Given the description of an element on the screen output the (x, y) to click on. 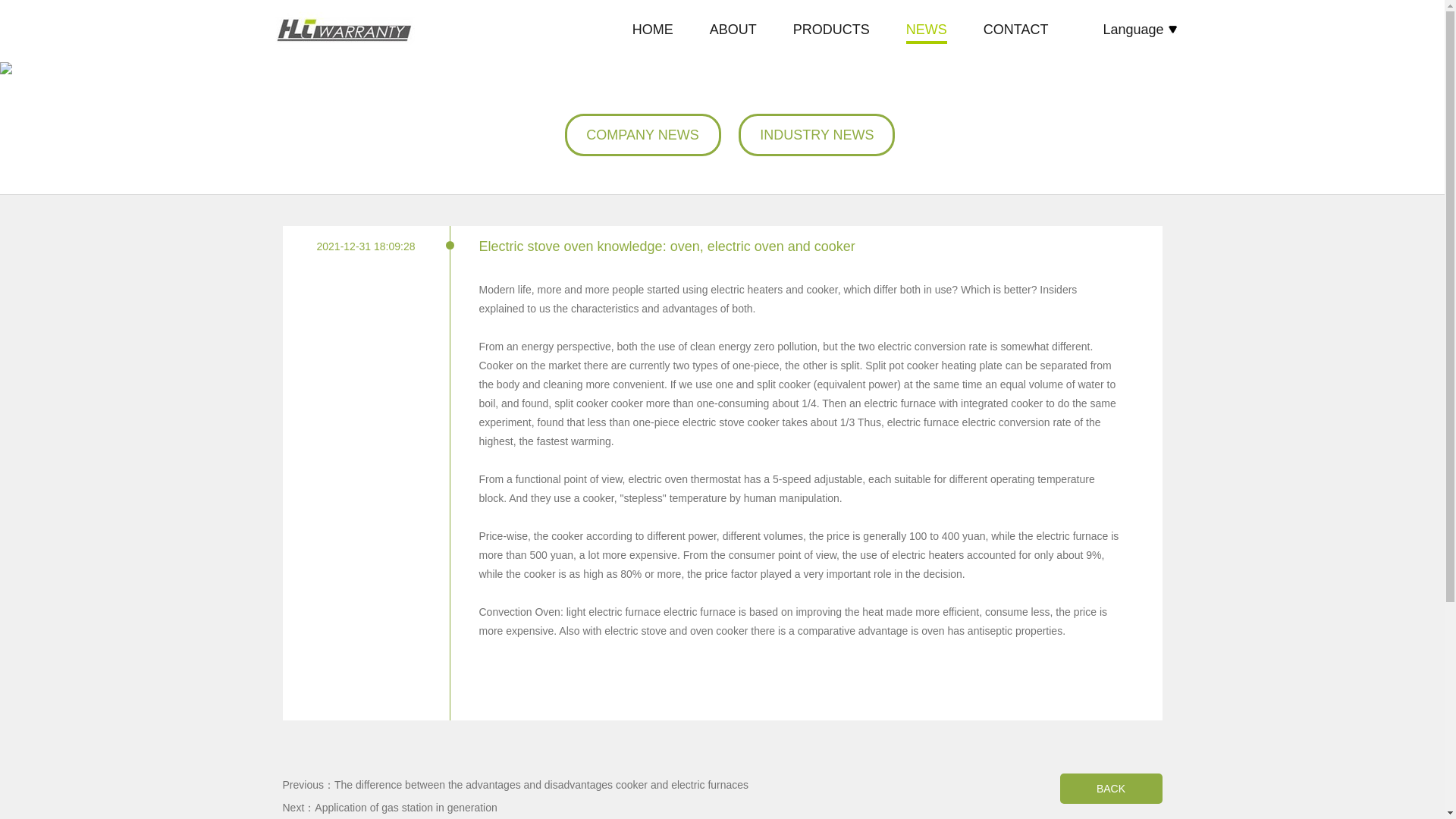
HOME (651, 31)
Application of gas station in generation (405, 807)
NEWS (926, 31)
COMPANY NEWS (642, 134)
ABOUT (733, 31)
CONTACT (1016, 31)
Language (1139, 29)
PRODUCTS (831, 31)
CONTACT (1016, 31)
ABOUT (733, 31)
